Given the description of an element on the screen output the (x, y) to click on. 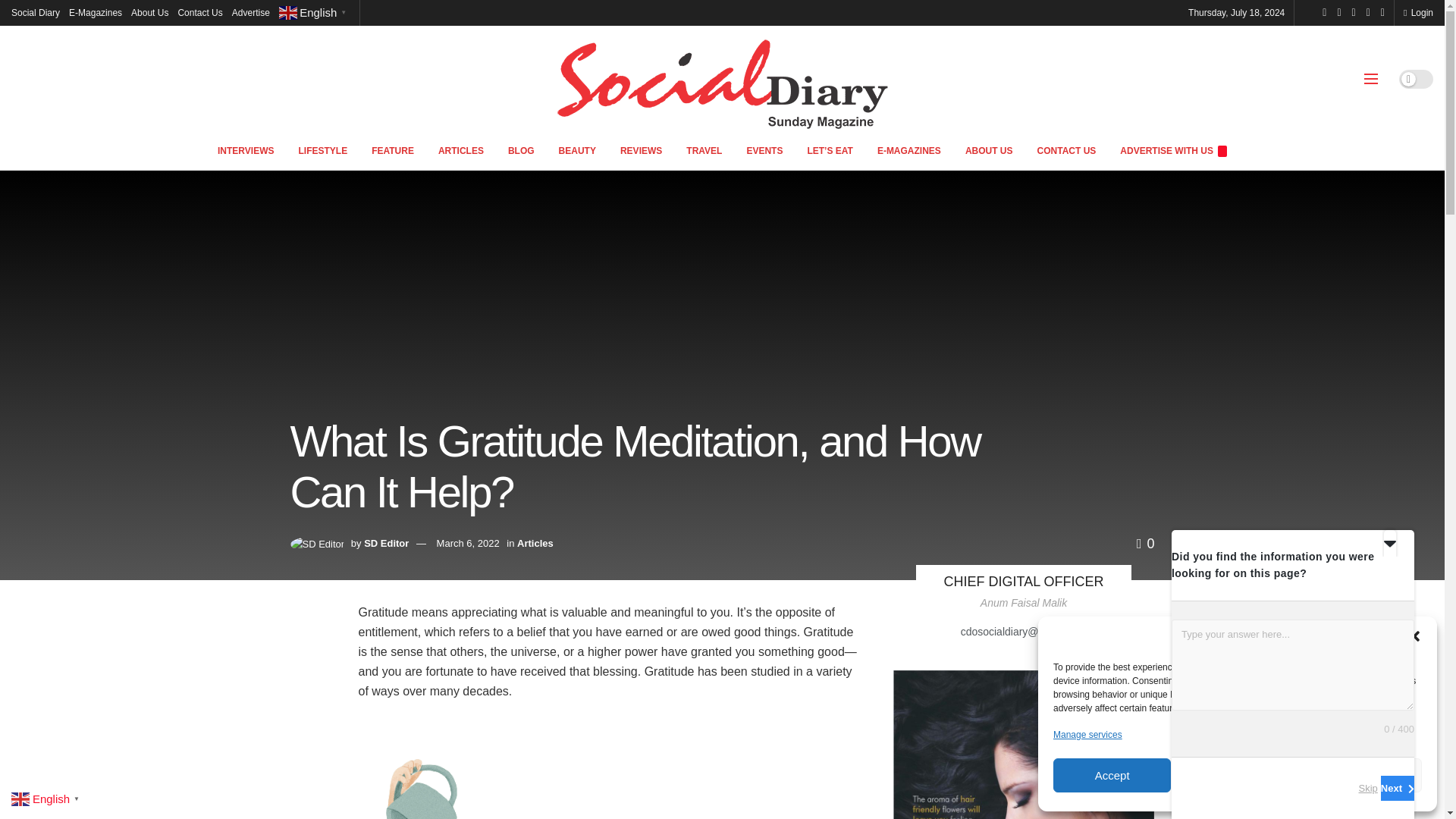
Advertise (250, 12)
About Us (149, 12)
Login (1417, 12)
E-Magazines (95, 12)
BLOG (521, 150)
View preferences (1363, 775)
Social Diary (35, 12)
Contact Us (199, 12)
BEAUTY (577, 150)
Manage services (1087, 734)
INTERVIEWS (245, 150)
ARTICLES (461, 150)
REVIEWS (641, 150)
FEATURE (392, 150)
Accept (1111, 775)
